Given the description of an element on the screen output the (x, y) to click on. 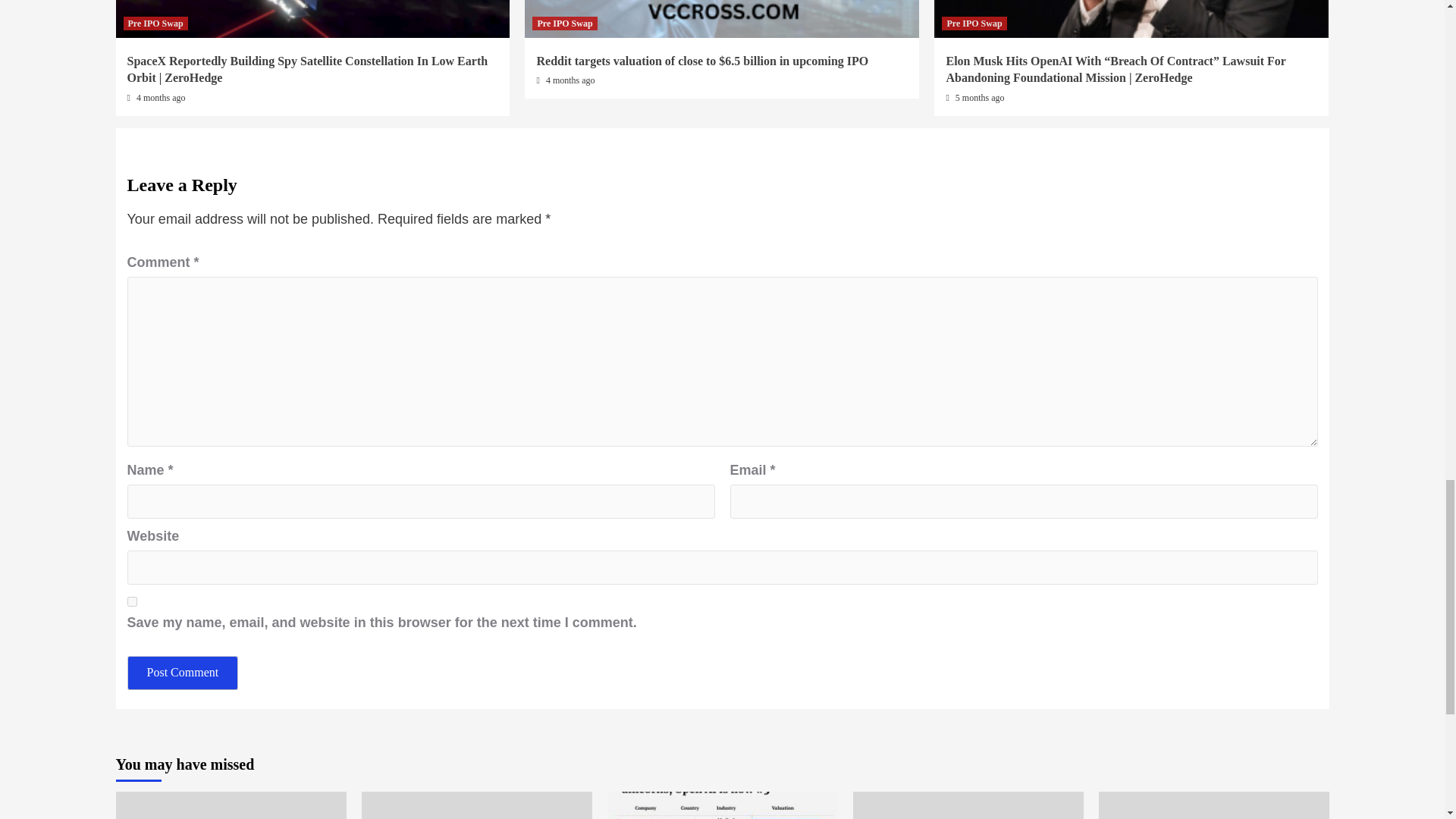
Post Comment (183, 673)
yes (132, 601)
